Given the description of an element on the screen output the (x, y) to click on. 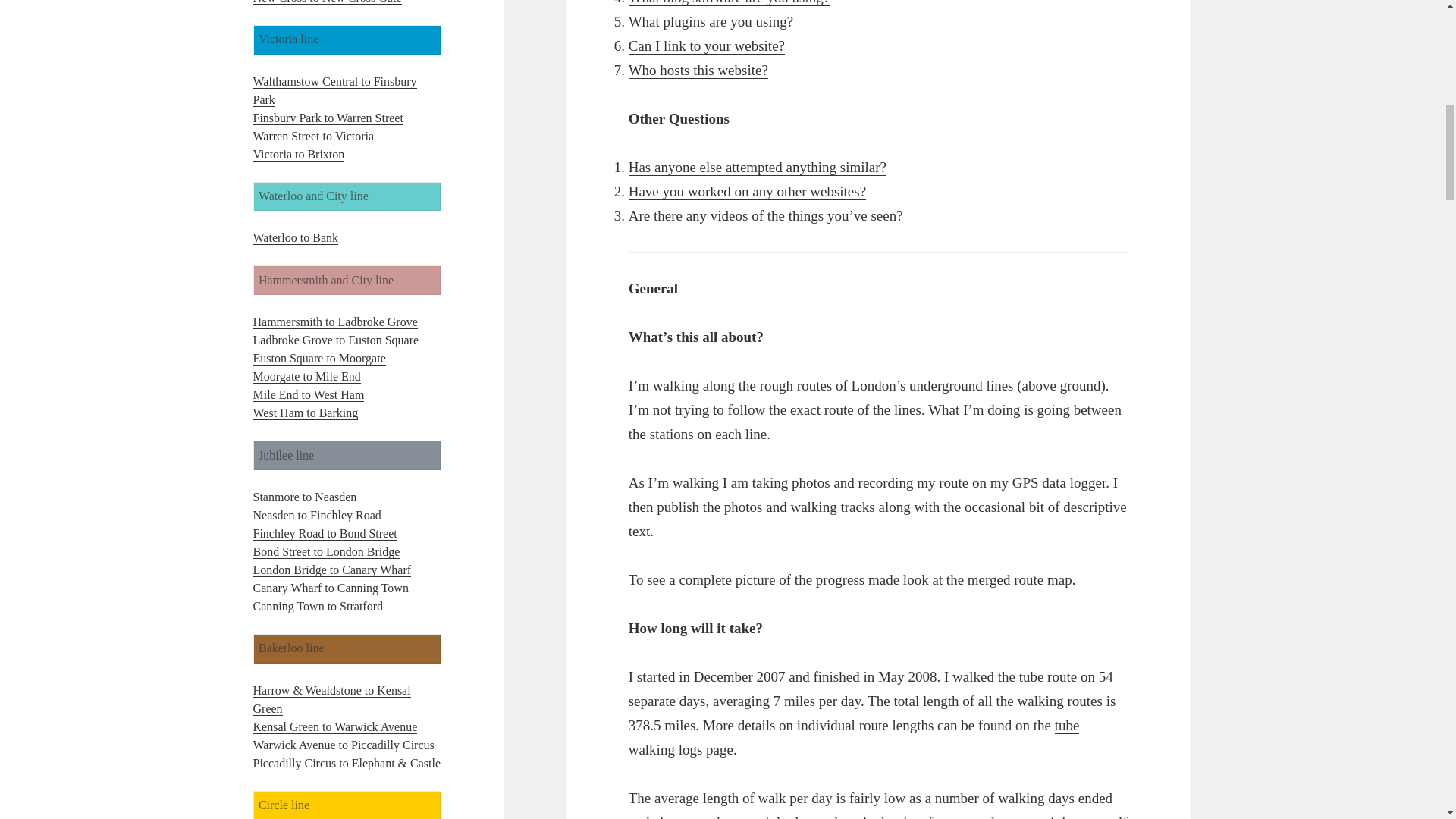
Canning Town to Stratford (317, 606)
Bond Street to London Bridge (326, 551)
Victoria to Brixton (299, 154)
Warren Street to Victoria (313, 136)
Finchley Road to Bond Street (325, 533)
Kensal Green to Warwick Avenue (335, 726)
Finsbury Park to Warren Street (328, 118)
Moorgate to Mile End (307, 377)
Canary Wharf to Canning Town (331, 588)
Hammersmith to Ladbroke Grove (335, 322)
